Given the description of an element on the screen output the (x, y) to click on. 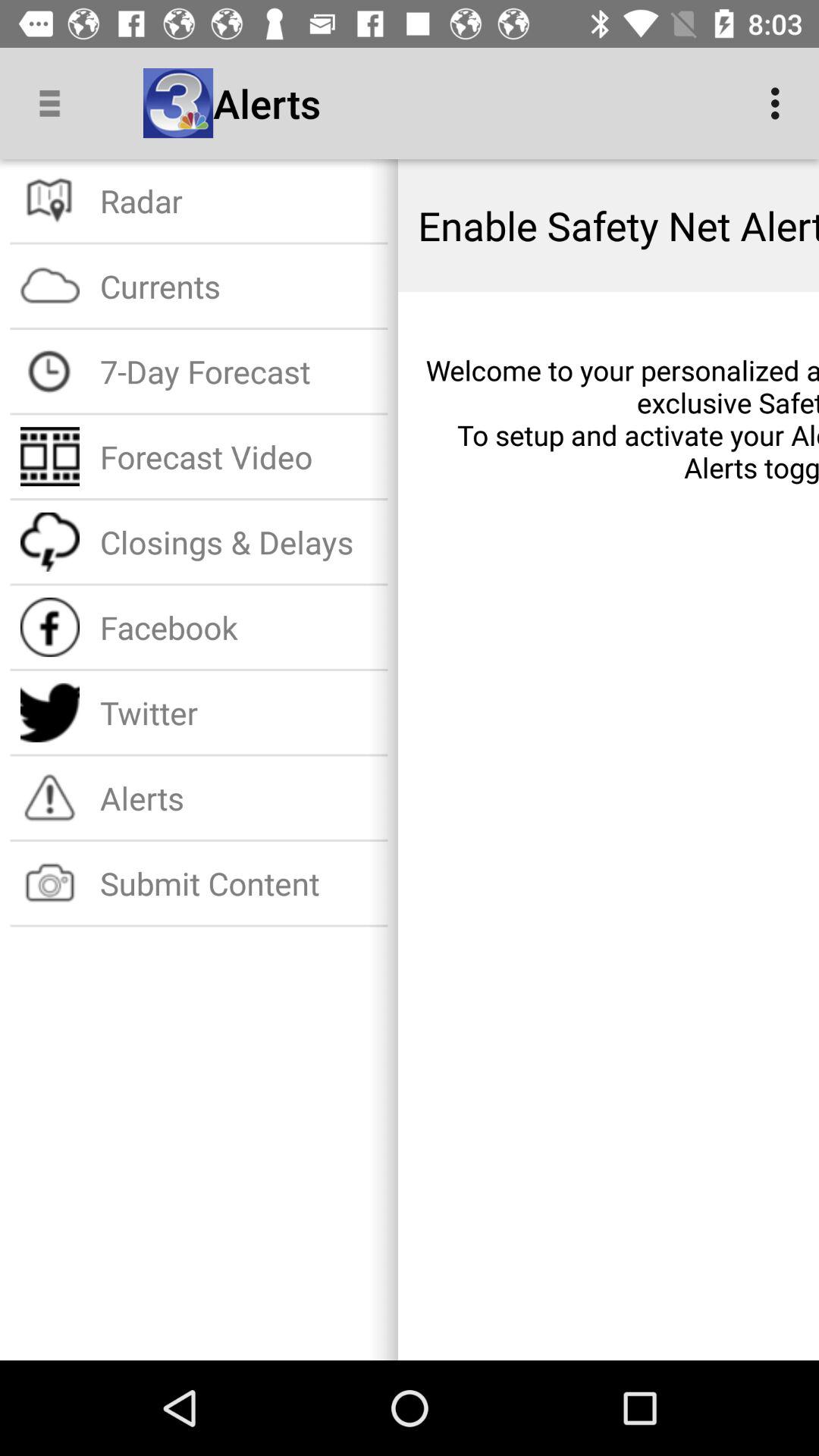
jump to radar item (238, 200)
